Given the description of an element on the screen output the (x, y) to click on. 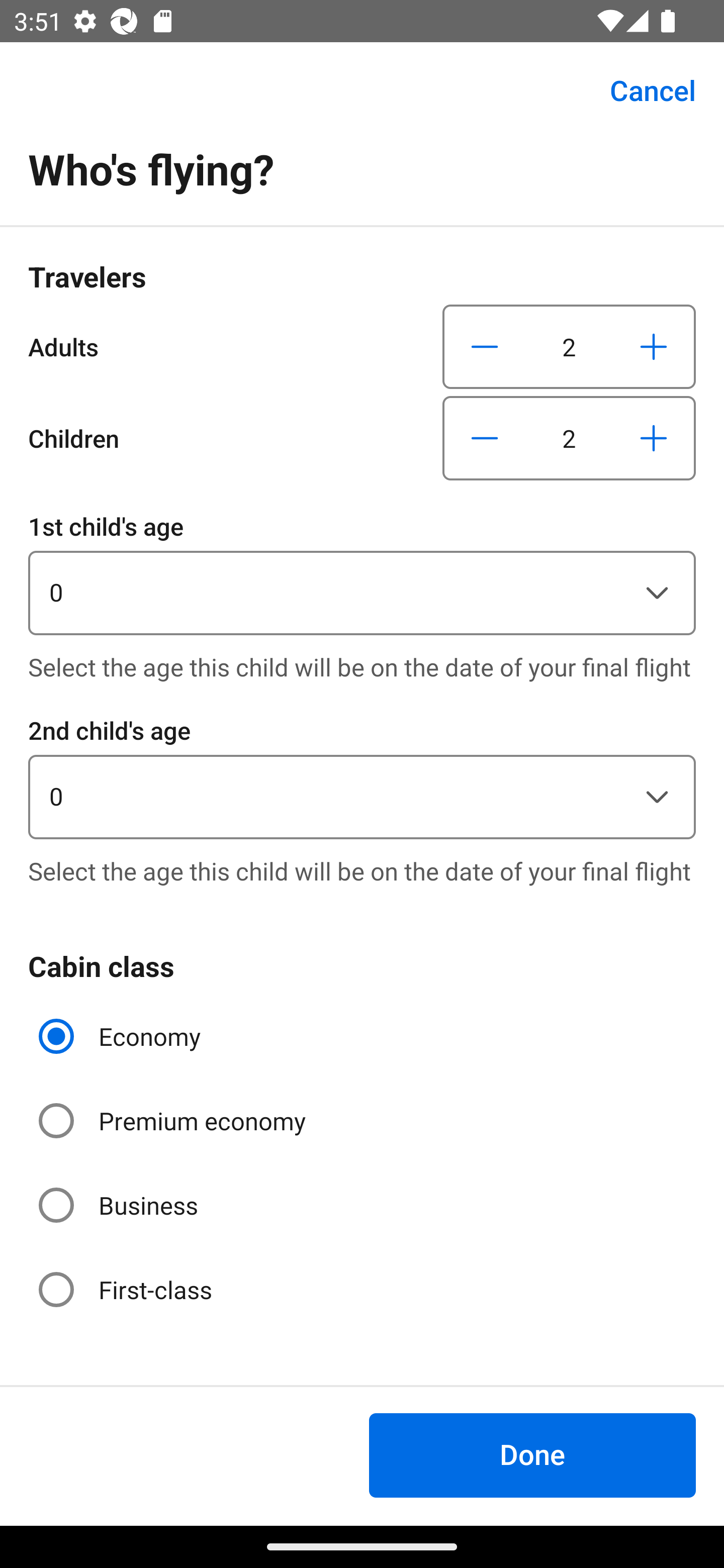
Cancel (641, 90)
Decrease (484, 346)
Increase (653, 346)
Decrease (484, 437)
Increase (653, 437)
1st child's age
 1st child's age 0 (361, 571)
2nd child's age
 2nd child's age 0 (361, 774)
Economy (121, 1036)
Premium economy (174, 1120)
Business (120, 1205)
First-class (126, 1289)
Done (532, 1454)
